Given the description of an element on the screen output the (x, y) to click on. 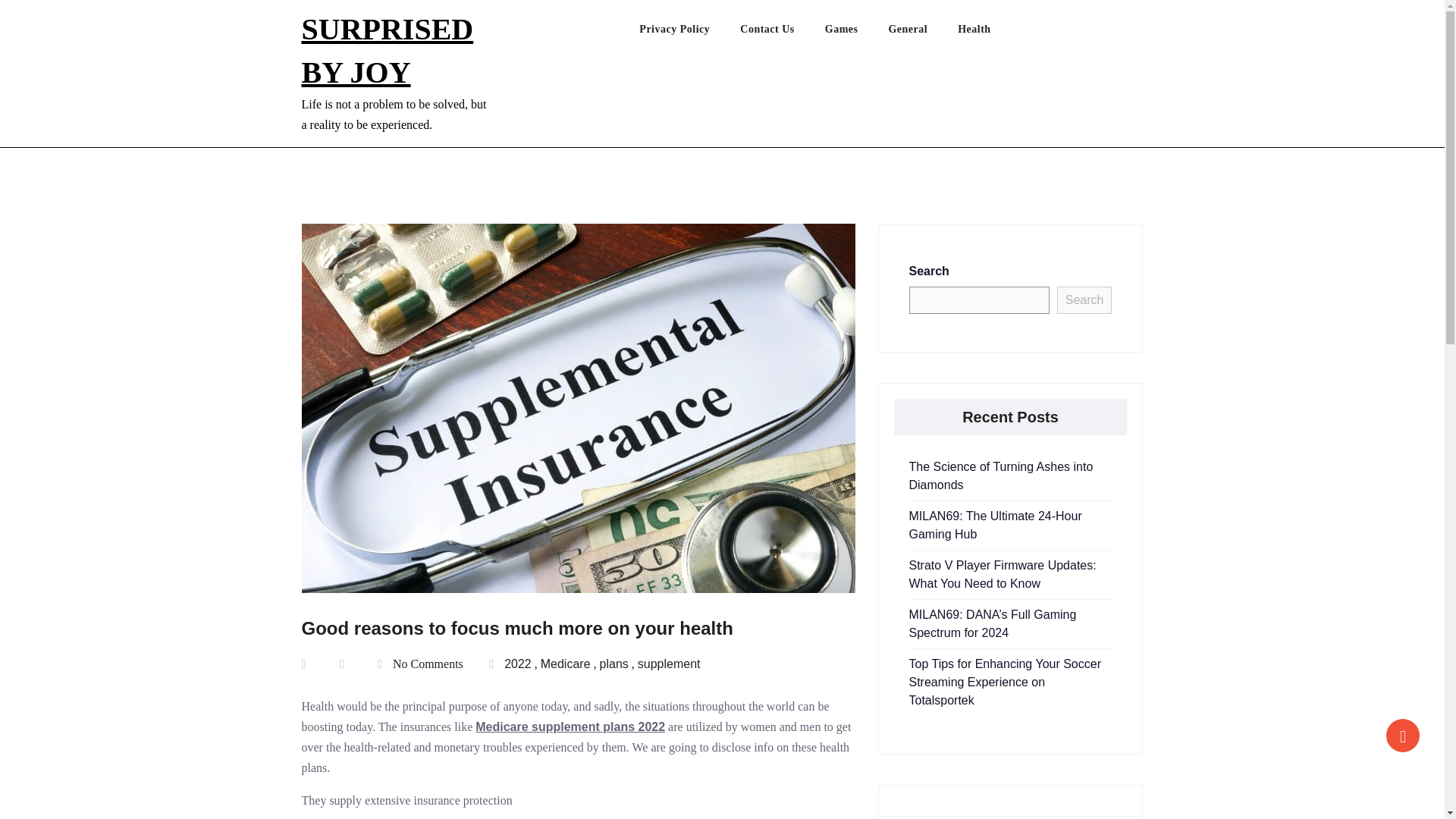
General (923, 32)
2022 (517, 662)
supplement (668, 662)
Strato V Player Firmware Updates: What You Need to Know (1002, 573)
Search (1084, 299)
Contact Us (782, 32)
Games (856, 32)
Health (989, 32)
SURPRISED BY JOY (387, 50)
MILAN69: The Ultimate 24-Hour Gaming Hub (994, 524)
Privacy Policy (689, 32)
Medicare (565, 662)
Medicare supplement plans 2022 (570, 726)
plans (613, 662)
